Given the description of an element on the screen output the (x, y) to click on. 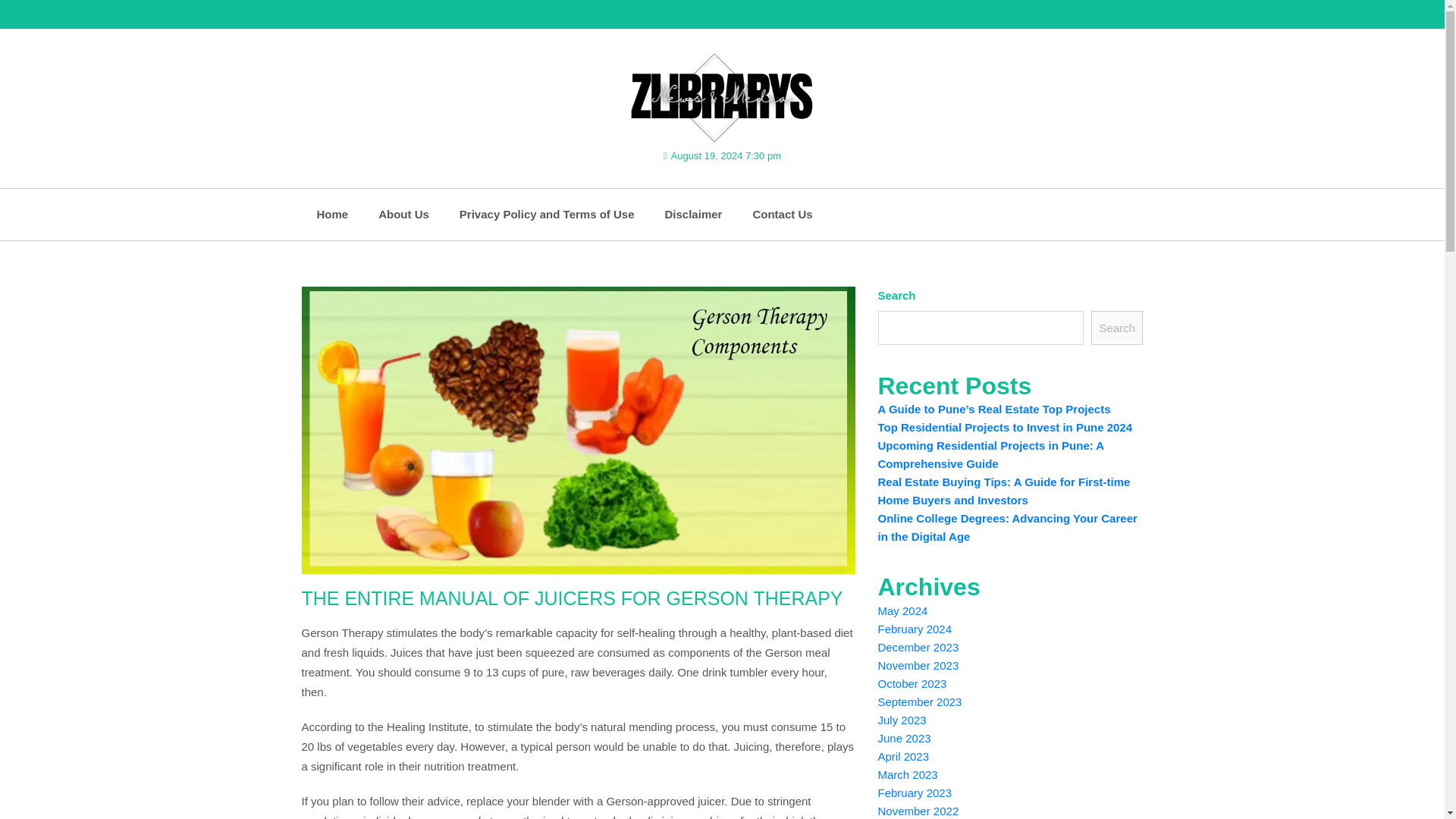
December 2023 (918, 646)
About Us (403, 214)
November 2023 (918, 665)
Search (1116, 327)
Privacy Policy and Terms of Use (546, 214)
Upcoming Residential Projects in Pune: A Comprehensive Guide (990, 454)
About Us (403, 214)
July 2023 (901, 719)
February 2024 (914, 628)
October 2023 (912, 683)
